Given the description of an element on the screen output the (x, y) to click on. 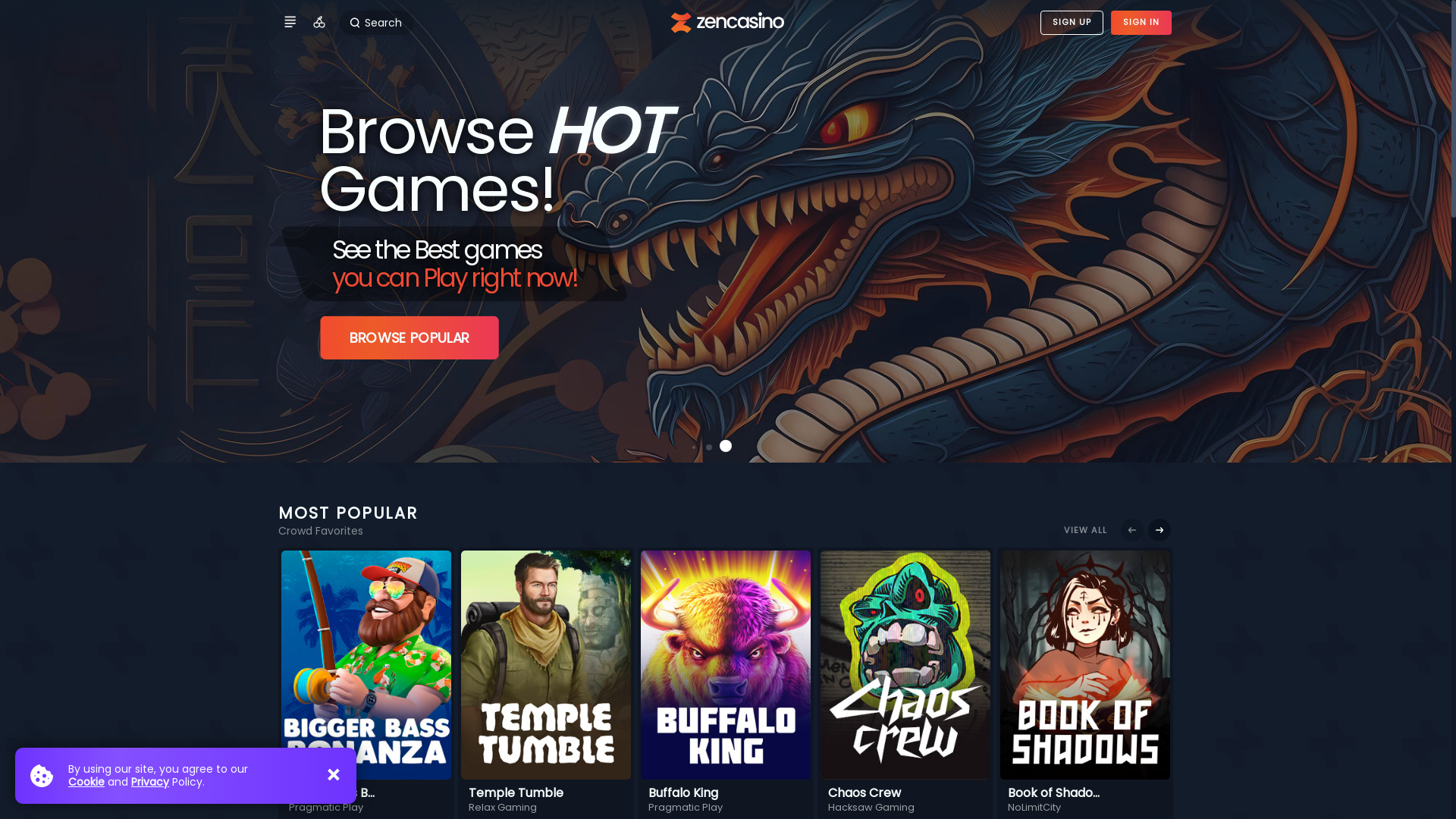
Cookie Element type: text (86, 781)
SIGN IN Element type: text (1140, 22)
Privacy Element type: text (150, 781)
SIGN UP Element type: text (1071, 22)
Book of Shado... Element type: text (1053, 792)
Buffalo King Element type: text (683, 792)
Bigger Bass B... Element type: text (331, 792)
Relax Gaming Element type: text (502, 806)
Pragmatic Play Element type: text (325, 806)
Chaos Crew Element type: text (864, 792)
Temple Tumble Element type: text (515, 792)
BROWSE LIVE GAMES Element type: text (395, 332)
Hacksaw Gaming Element type: text (871, 806)
NoLimitCity Element type: text (1033, 806)
MOST POPULAR Element type: text (347, 513)
Pragmatic Play Element type: text (685, 806)
VIEW ALL Element type: text (1085, 530)
Search Element type: text (376, 22)
